Given the description of an element on the screen output the (x, y) to click on. 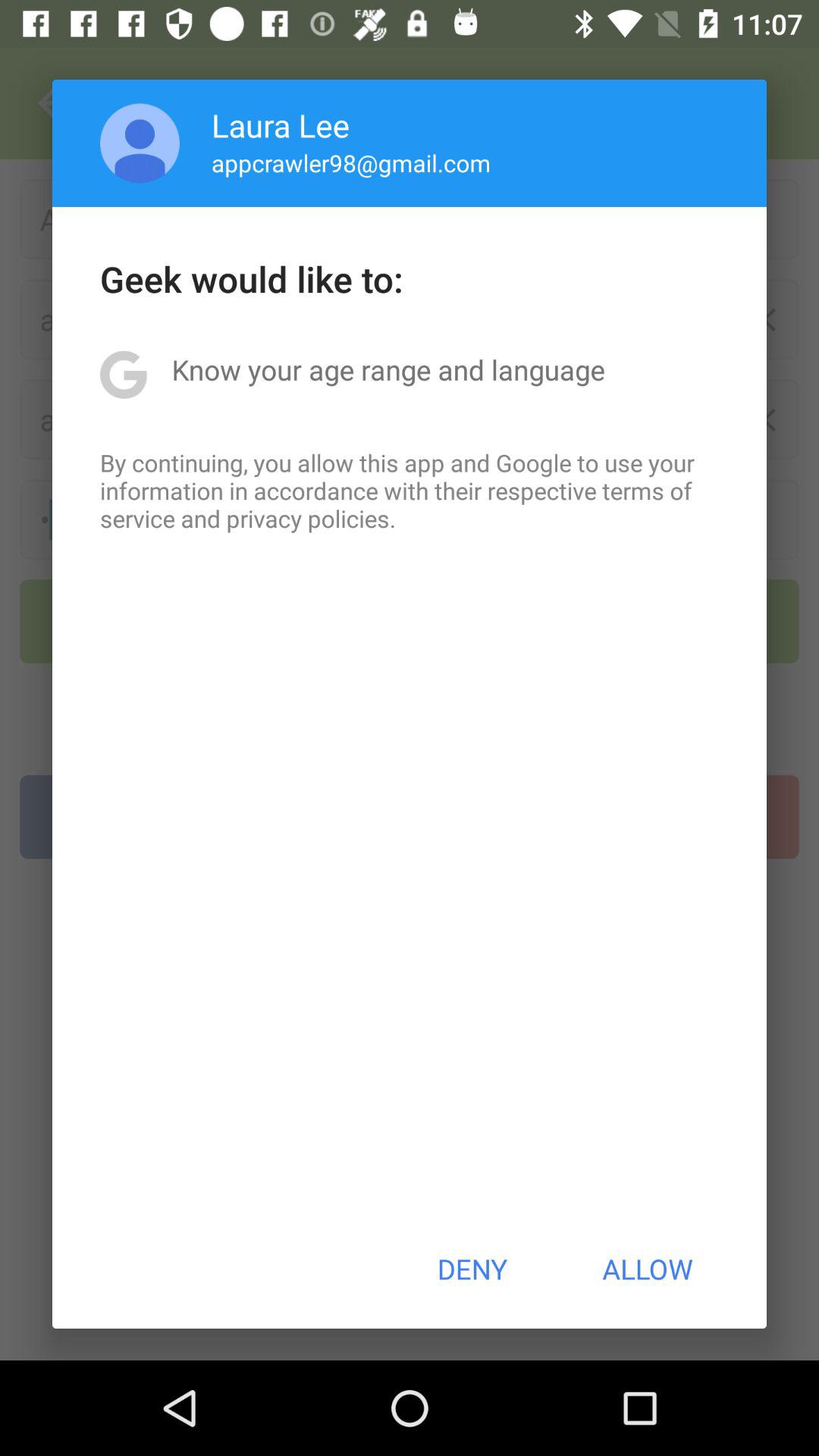
choose the laura lee (280, 124)
